Given the description of an element on the screen output the (x, y) to click on. 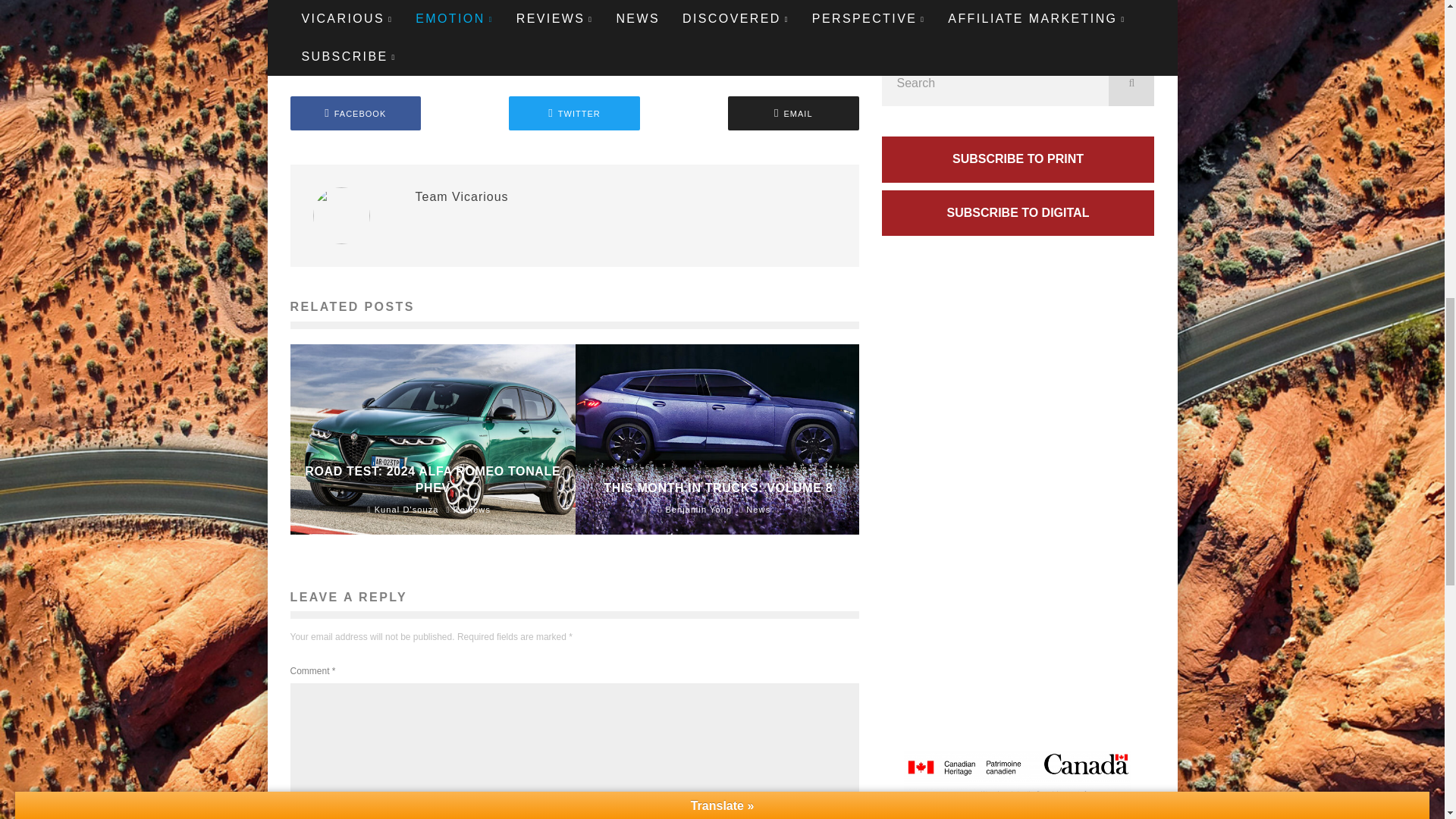
Advertisement (1017, 18)
